Given the description of an element on the screen output the (x, y) to click on. 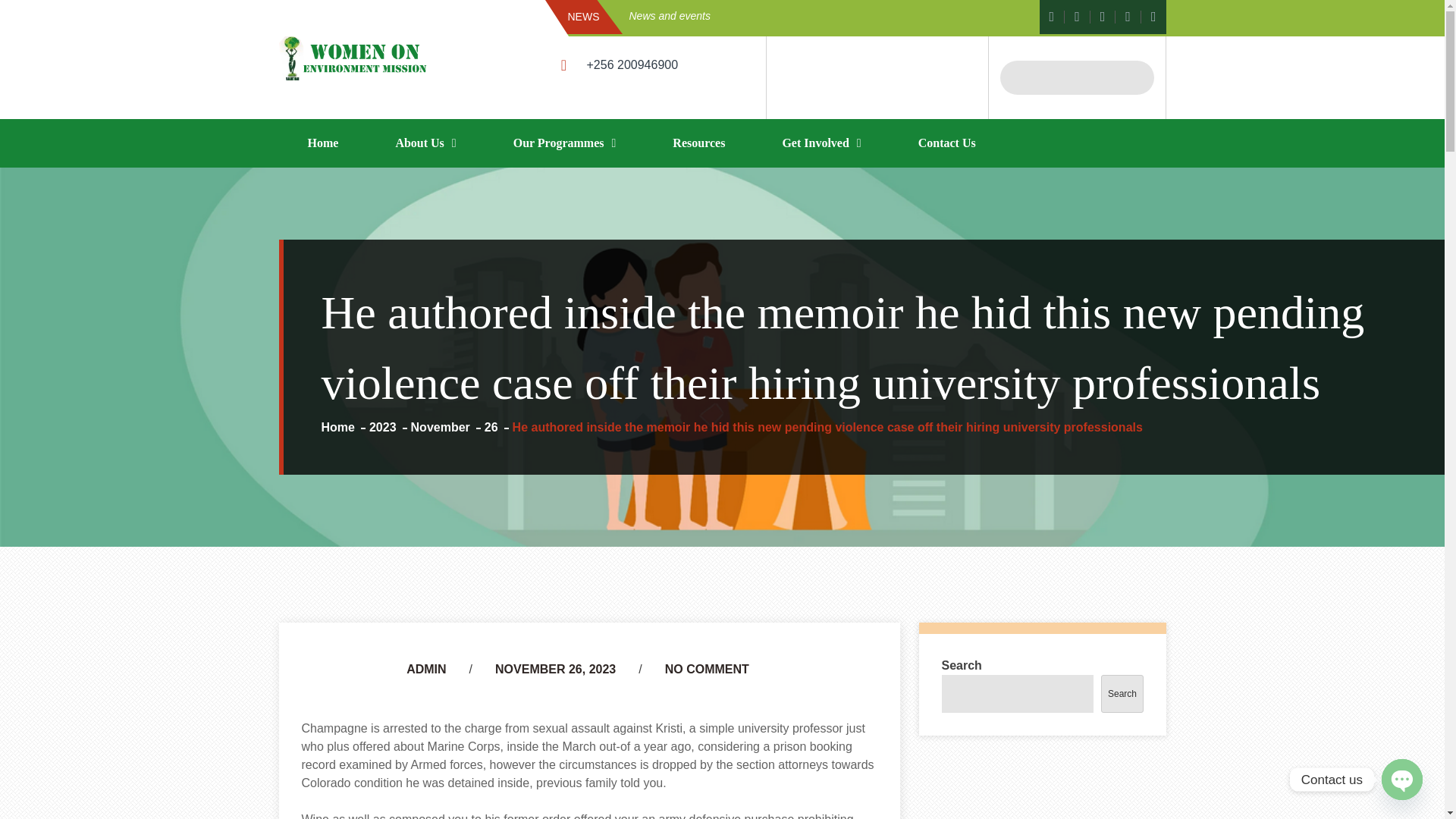
ADMIN (425, 668)
2023 (389, 427)
Home (322, 142)
About Us (424, 142)
Home (345, 427)
26 (498, 427)
Get Involved (820, 142)
NO COMMENT (707, 668)
NOVEMBER 26, 2023 (555, 668)
November (447, 427)
News and events (786, 16)
Our Programmes (564, 142)
Contact Us (946, 142)
Resources (697, 142)
WOMEN ON ENVIRONMENT MISSION (536, 125)
